Given the description of an element on the screen output the (x, y) to click on. 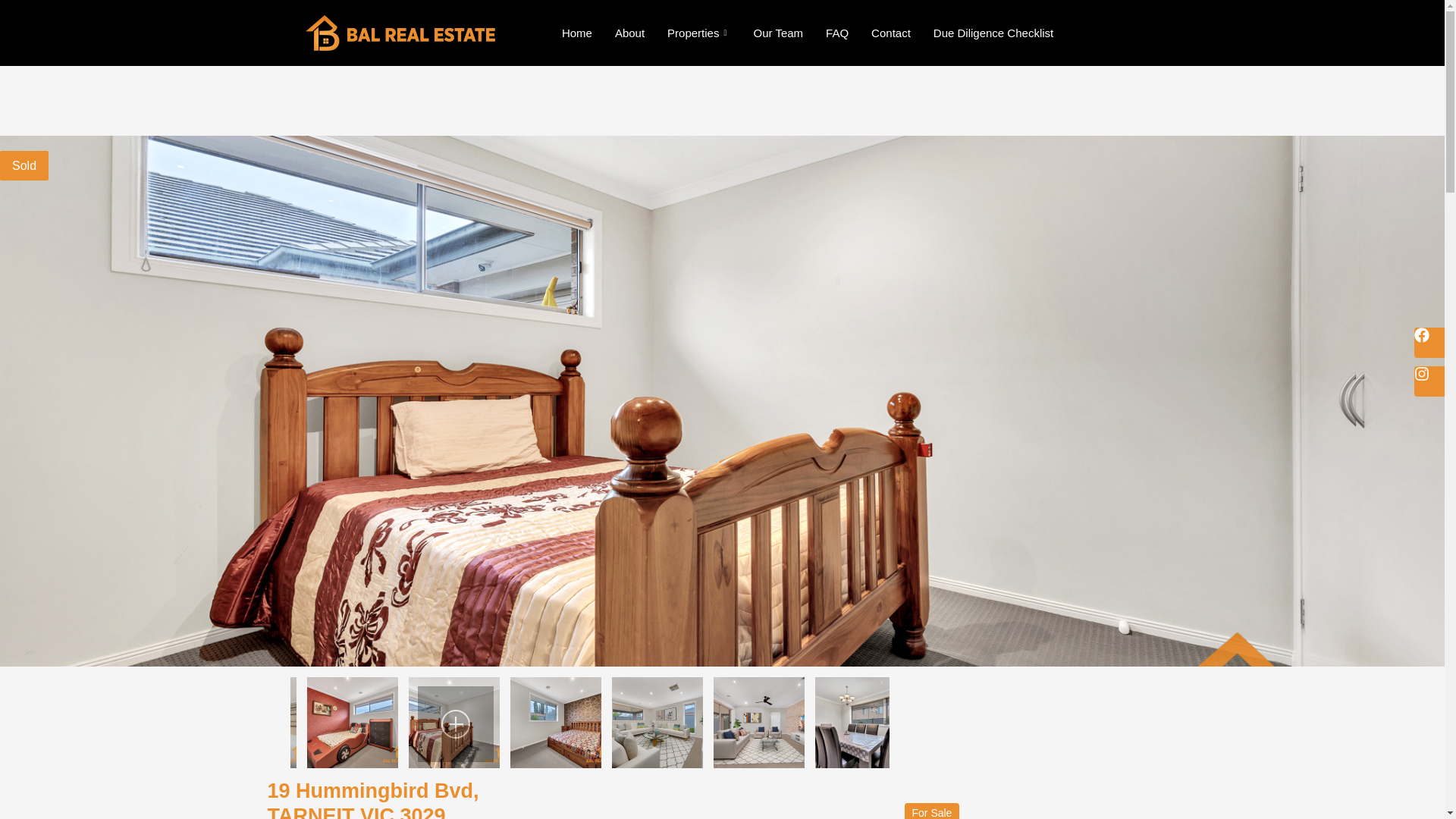
Due Diligence Checklist (992, 33)
About (630, 33)
FAQ (836, 33)
Home (577, 33)
Our Team (777, 33)
Properties (698, 33)
Contact (890, 33)
